Given the description of an element on the screen output the (x, y) to click on. 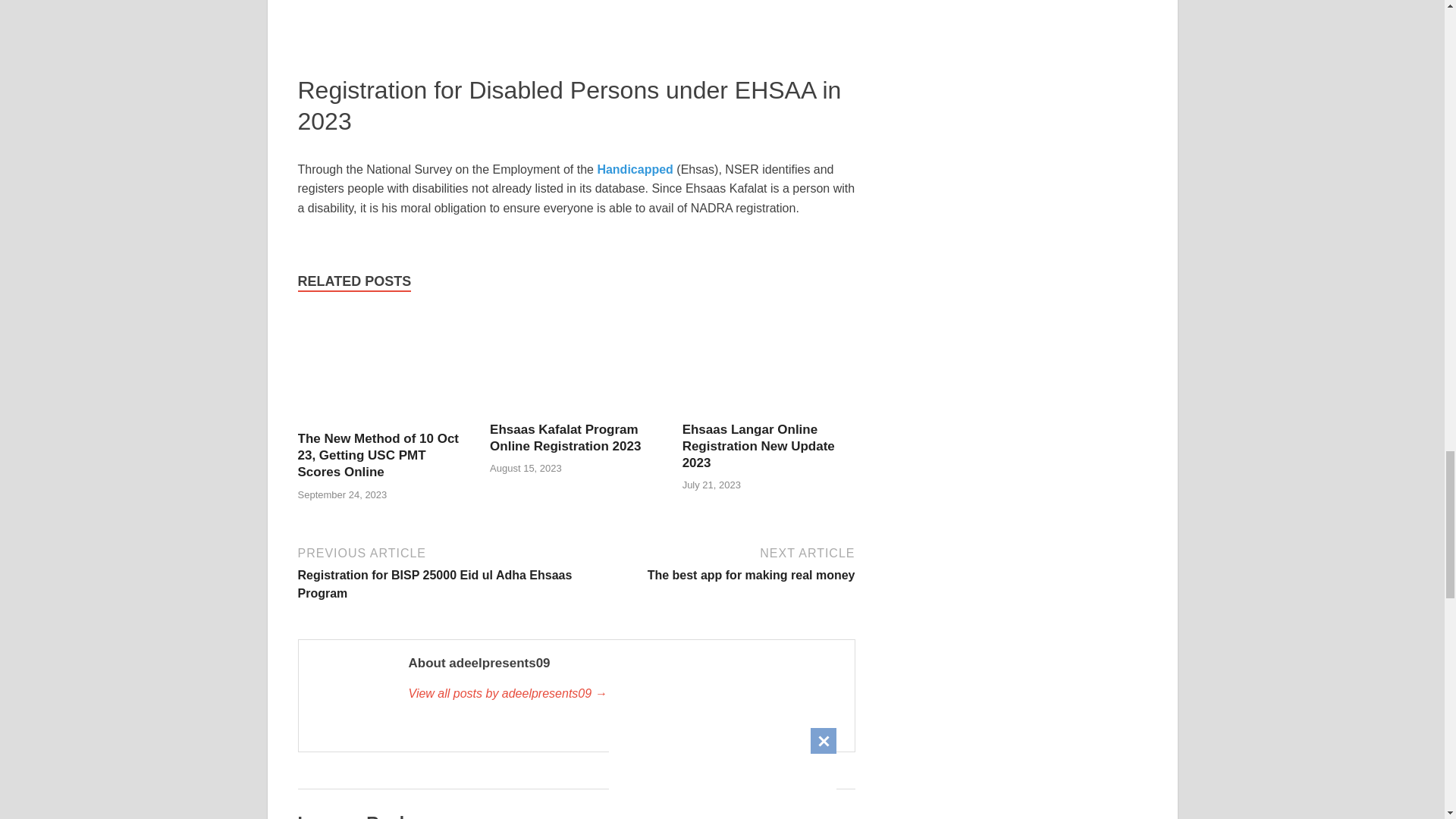
Ehsaas Langar Online Registration New Update 2023 (758, 446)
Ehsaas Kafalat Program Online Registration 2023 (575, 411)
Ehsaas Langar Online Registration New Update 2023 (769, 411)
Handicapped (636, 169)
The New Method of 10 Oct 23, Getting USC PMT Scores Online (377, 455)
Ehsaas Kafalat Program Online Registration 2023 (564, 437)
The New Method of 10 Oct 23, Getting USC PMT Scores Online (383, 420)
adeelpresents09 (717, 562)
The New Method of 10 Oct 23, Getting USC PMT Scores Online (622, 693)
Ehsaas Kafalat Program Online Registration 2023 (377, 455)
Ehsaas Langar Online Registration New Update 2023 (564, 437)
